Given the description of an element on the screen output the (x, y) to click on. 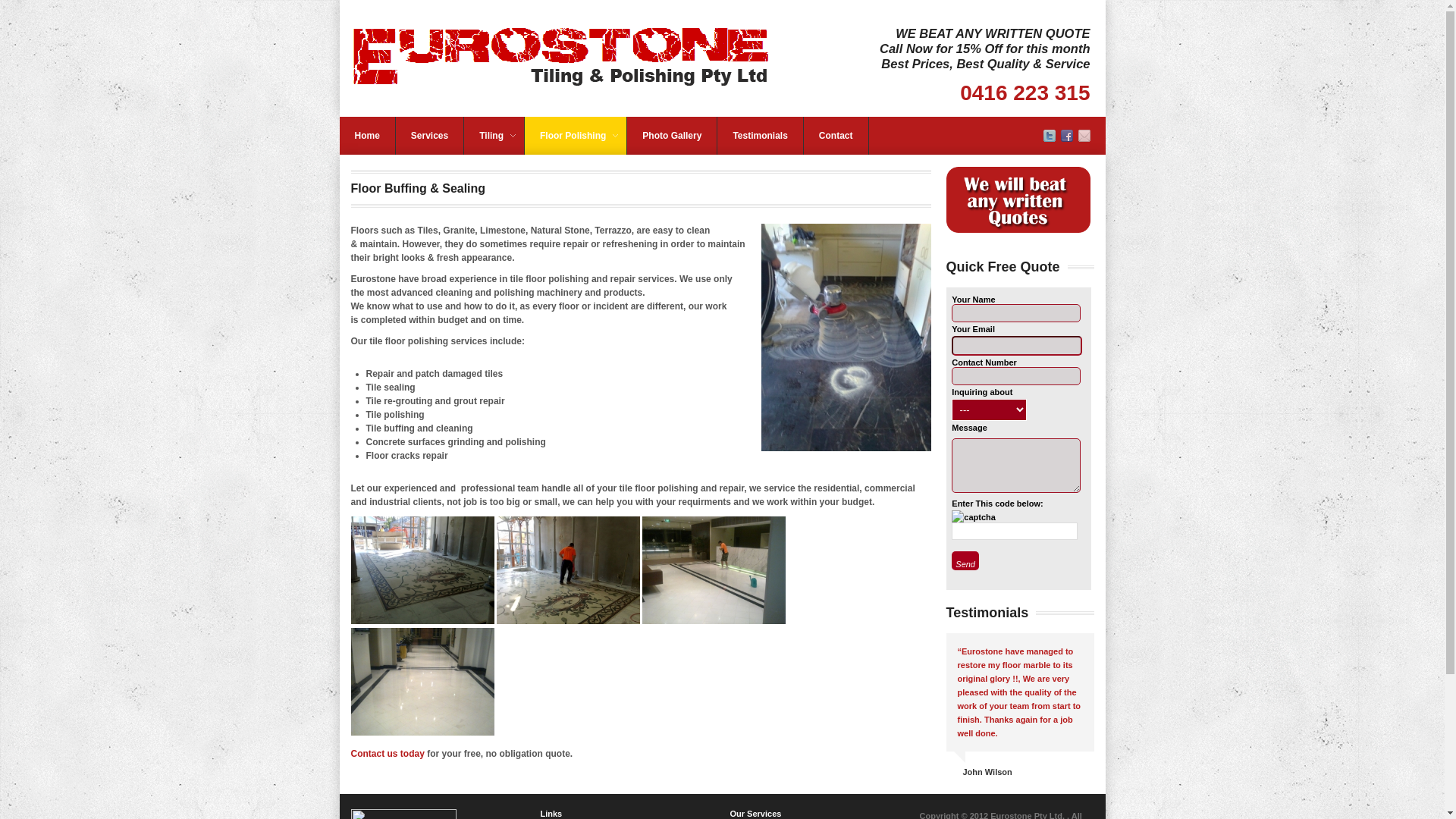
Photo Gallery Element type: text (671, 135)
twitter Element type: hover (1049, 138)
Send Element type: text (965, 560)
Home Element type: text (367, 135)
Photo0031-s Element type: hover (846, 337)
Contact us today Element type: text (386, 753)
06052009357 Element type: hover (568, 570)
EuroStone Element type: hover (564, 58)
23022011110 Element type: hover (713, 570)
06052009354 Element type: hover (421, 570)
Contact Element type: text (835, 135)
23022011109 Element type: hover (421, 681)
mail Element type: hover (1084, 138)
Testimonials Element type: text (759, 135)
facebook Element type: hover (1066, 138)
Services Element type: text (429, 135)
